Given the description of an element on the screen output the (x, y) to click on. 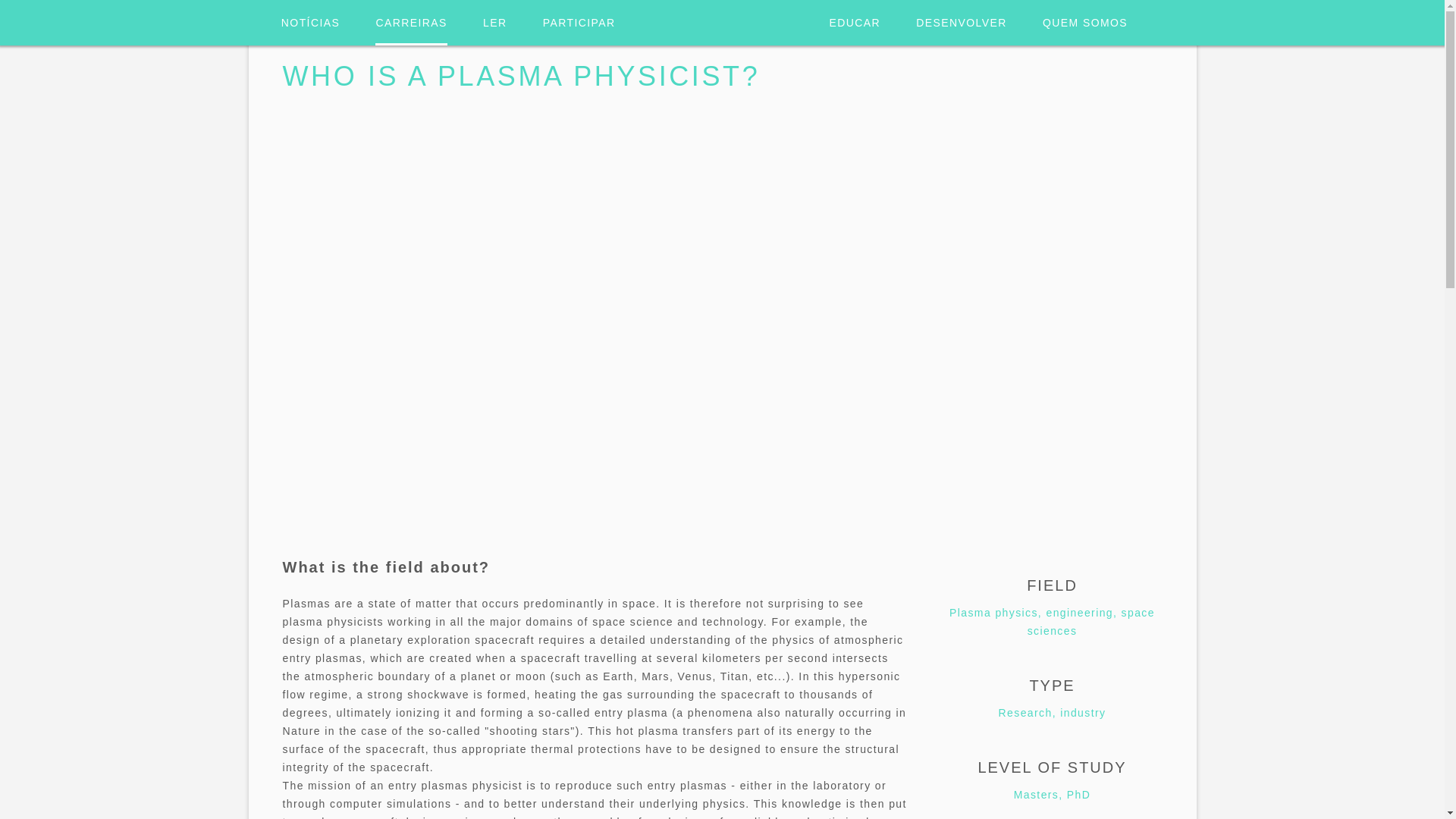
DESENVOLVER (960, 22)
PARTICIPAR (579, 22)
QUEM SOMOS (1084, 22)
CARREIRAS (410, 22)
EDUCAR (854, 22)
